Given the description of an element on the screen output the (x, y) to click on. 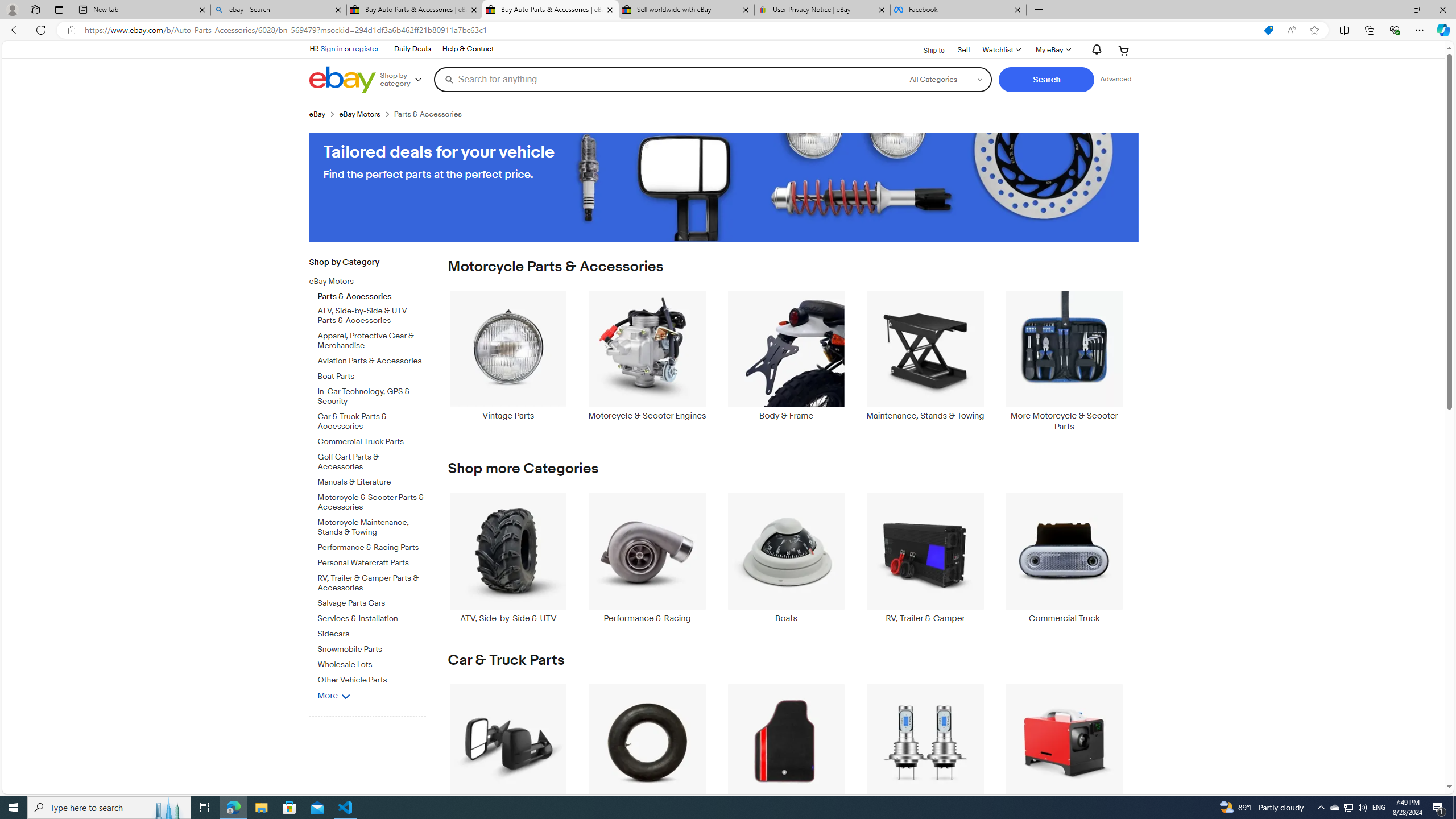
Golf Cart Parts & Accessories (371, 459)
Wheels, Tires & Parts (646, 748)
Boat Parts (371, 374)
My eBayExpand My eBay (1052, 49)
RV, Trailer & Camper (925, 558)
Vintage Parts (508, 355)
Wholesale Lots (371, 662)
AutomationID: gh-eb-Alerts (1094, 49)
Vintage Parts (508, 360)
